Given the description of an element on the screen output the (x, y) to click on. 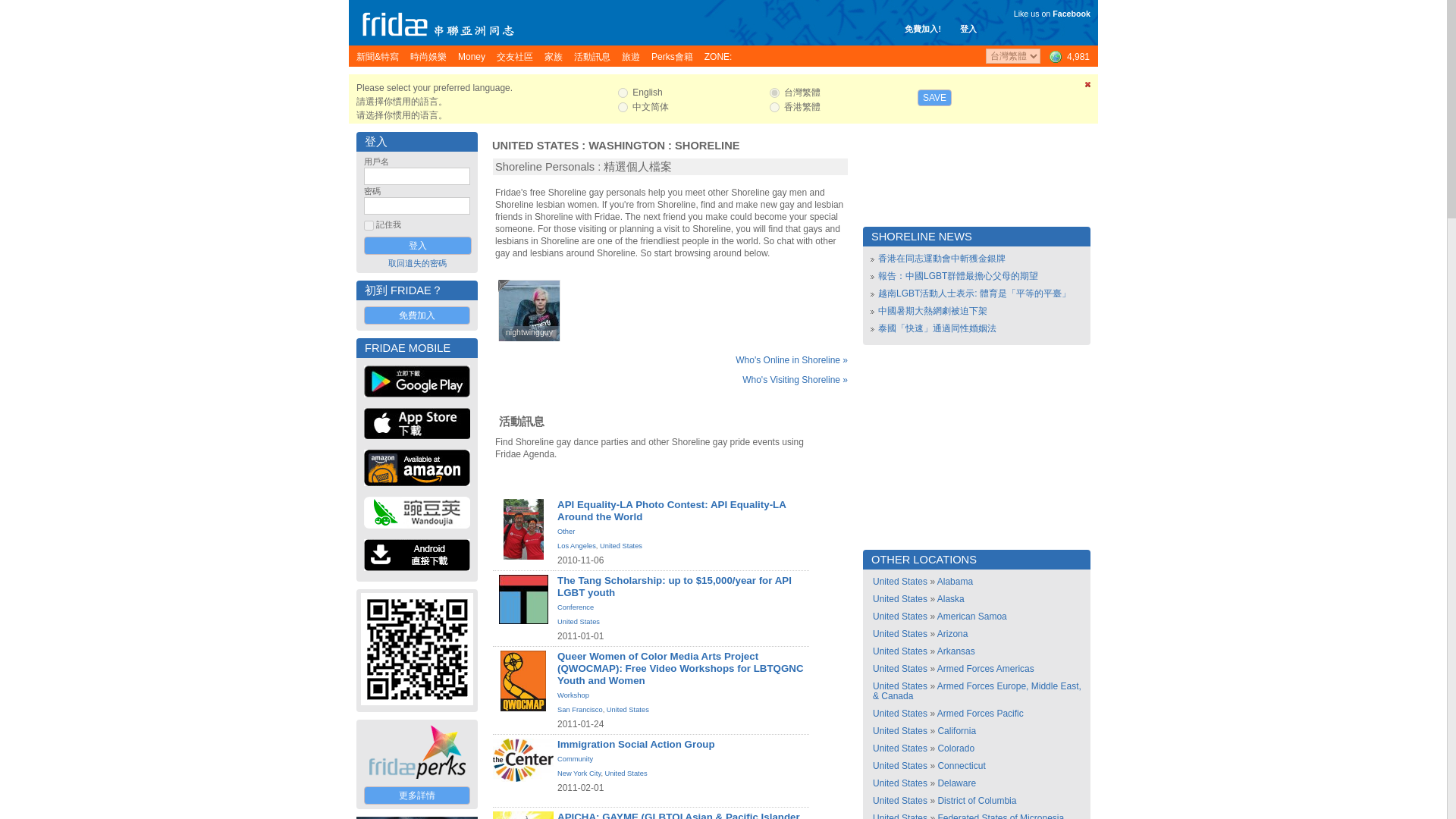
Worldwide (1068, 56)
sc (622, 107)
en (622, 92)
ZONE: (718, 55)
Facebook (1071, 13)
Offline (504, 285)
tc (774, 92)
Close this panel (1087, 86)
Money (471, 55)
4,981 (1068, 56)
